Given the description of an element on the screen output the (x, y) to click on. 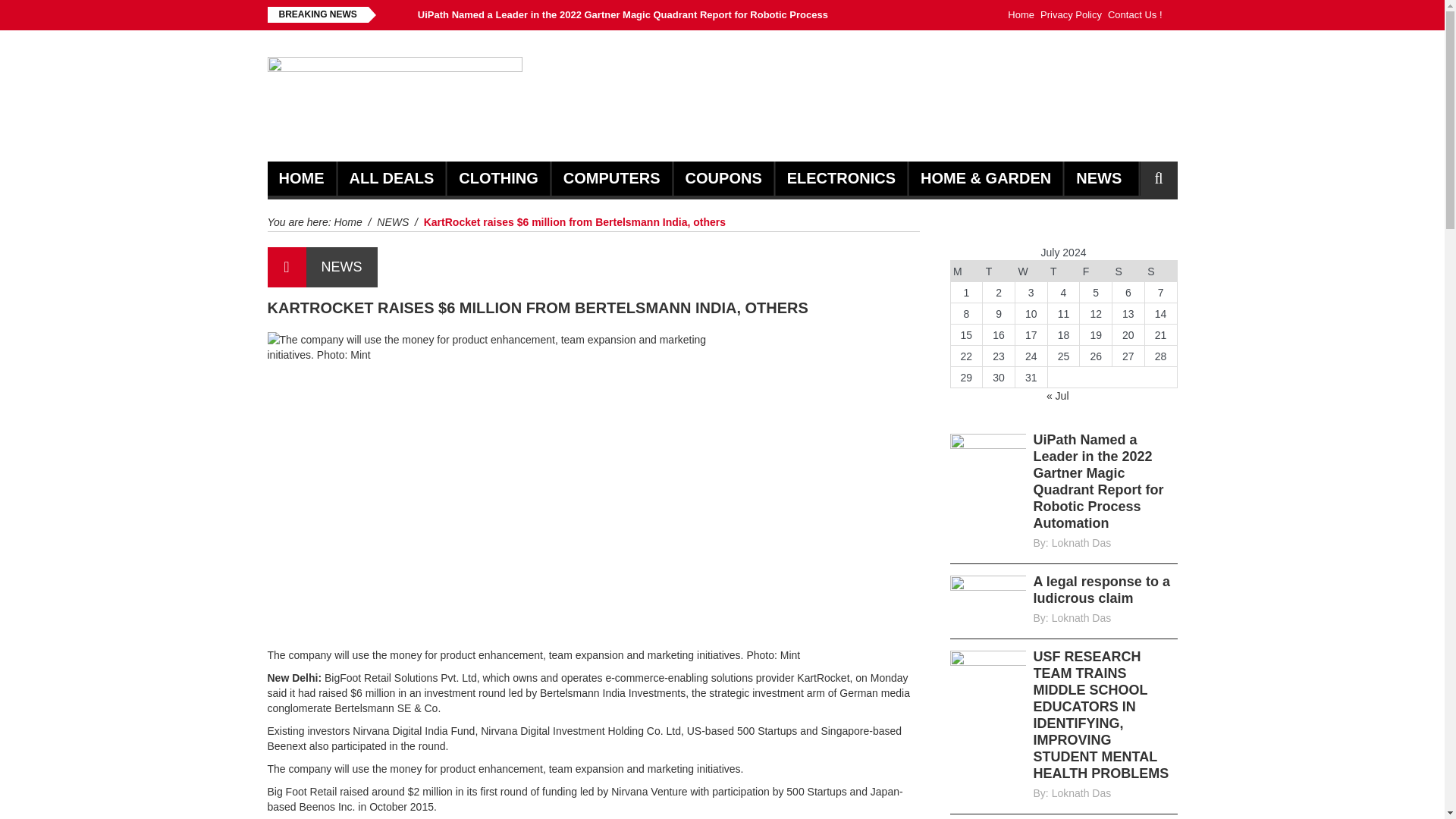
ALL DEALS (391, 178)
CLOTHING (497, 178)
Wednesday (1030, 271)
Privacy Policy (1071, 15)
Contact Us ! (1134, 15)
NEWS (341, 267)
NEWS (393, 222)
Monday (966, 271)
Thursday (1063, 271)
Friday (1096, 271)
Posts by Loknath Das (1081, 617)
NEWS (1098, 178)
Tuesday (998, 271)
ELECTRONICS (841, 178)
